Given the description of an element on the screen output the (x, y) to click on. 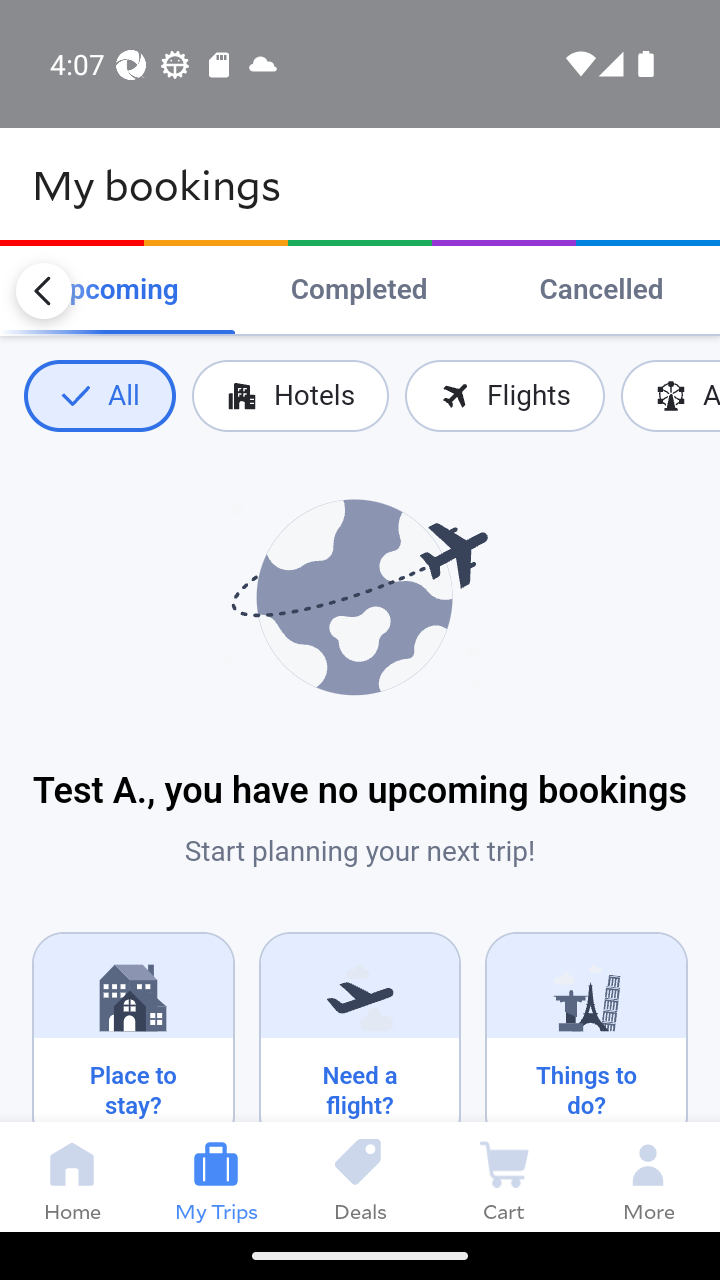
Upcoming (114, 289)
Completed (358, 289)
Cancelled (601, 289)
All (99, 395)
Hotels (290, 395)
Flights (504, 395)
Activities (669, 395)
Home (72, 1176)
My Trips (216, 1176)
Deals (360, 1176)
Cart (504, 1176)
More (648, 1176)
